Given the description of an element on the screen output the (x, y) to click on. 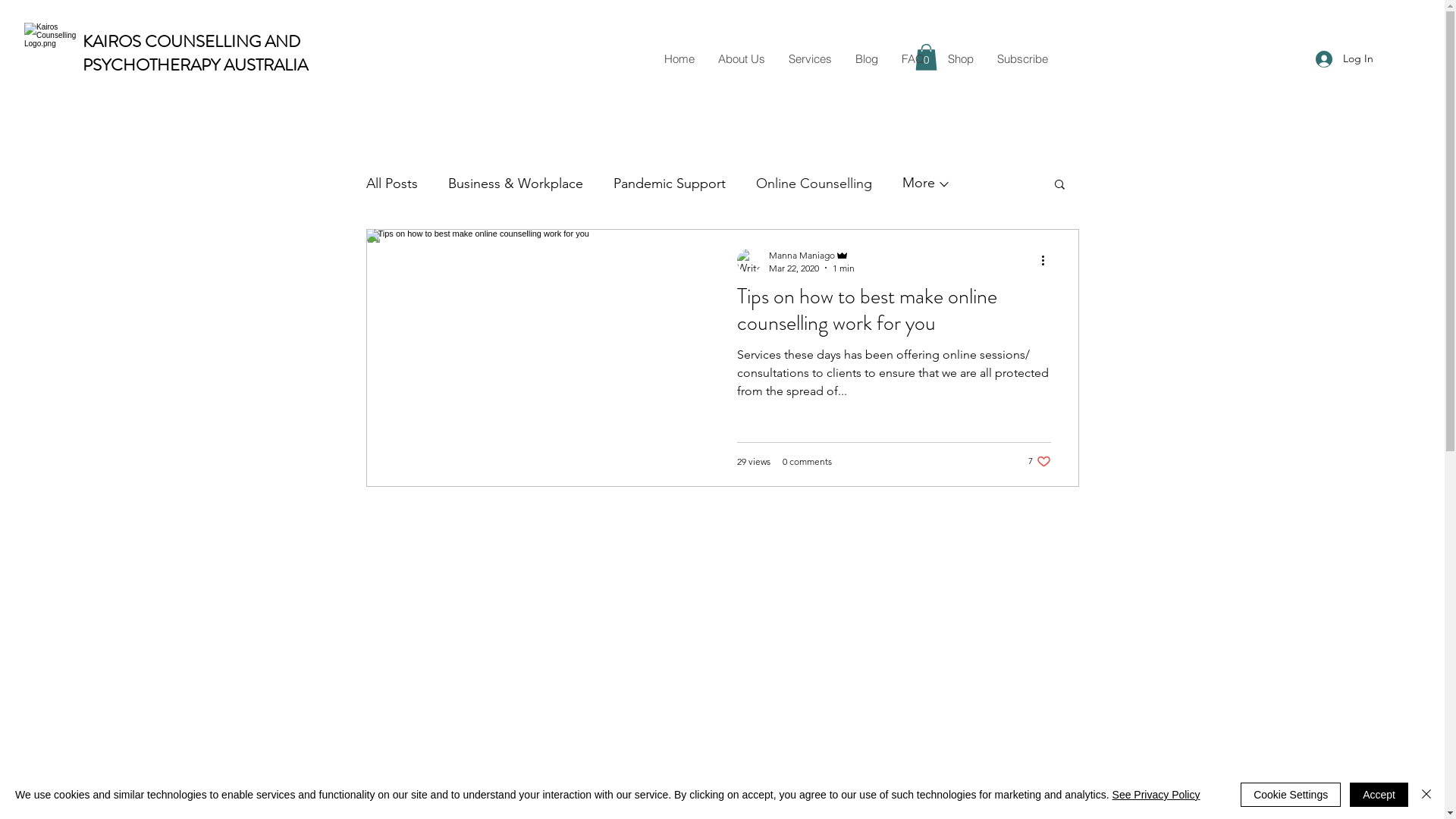
Services Element type: text (809, 59)
Manna Maniago Element type: text (811, 254)
Log In Element type: text (1344, 58)
FAQ Element type: text (911, 59)
Blog Element type: text (866, 59)
Home Element type: text (679, 59)
All Posts Element type: text (391, 183)
Pandemic Support Element type: text (668, 183)
Business & Workplace Element type: text (514, 183)
0 comments Element type: text (806, 461)
Shop Element type: text (960, 59)
Cookie Settings Element type: text (1290, 794)
Tips on how to best make online counselling work for you Element type: text (894, 313)
0 Element type: text (926, 56)
7 likes. Post not marked as liked
7 Element type: text (1039, 461)
Subscribe Element type: text (1021, 59)
KAIROS COUNSELLING AND PSYCHOTHERAPY AUSTRALIA Element type: text (194, 52)
See Privacy Policy Element type: text (1156, 794)
Accept Element type: text (1378, 794)
Online Counselling Element type: text (813, 183)
About Us Element type: text (740, 59)
